Given the description of an element on the screen output the (x, y) to click on. 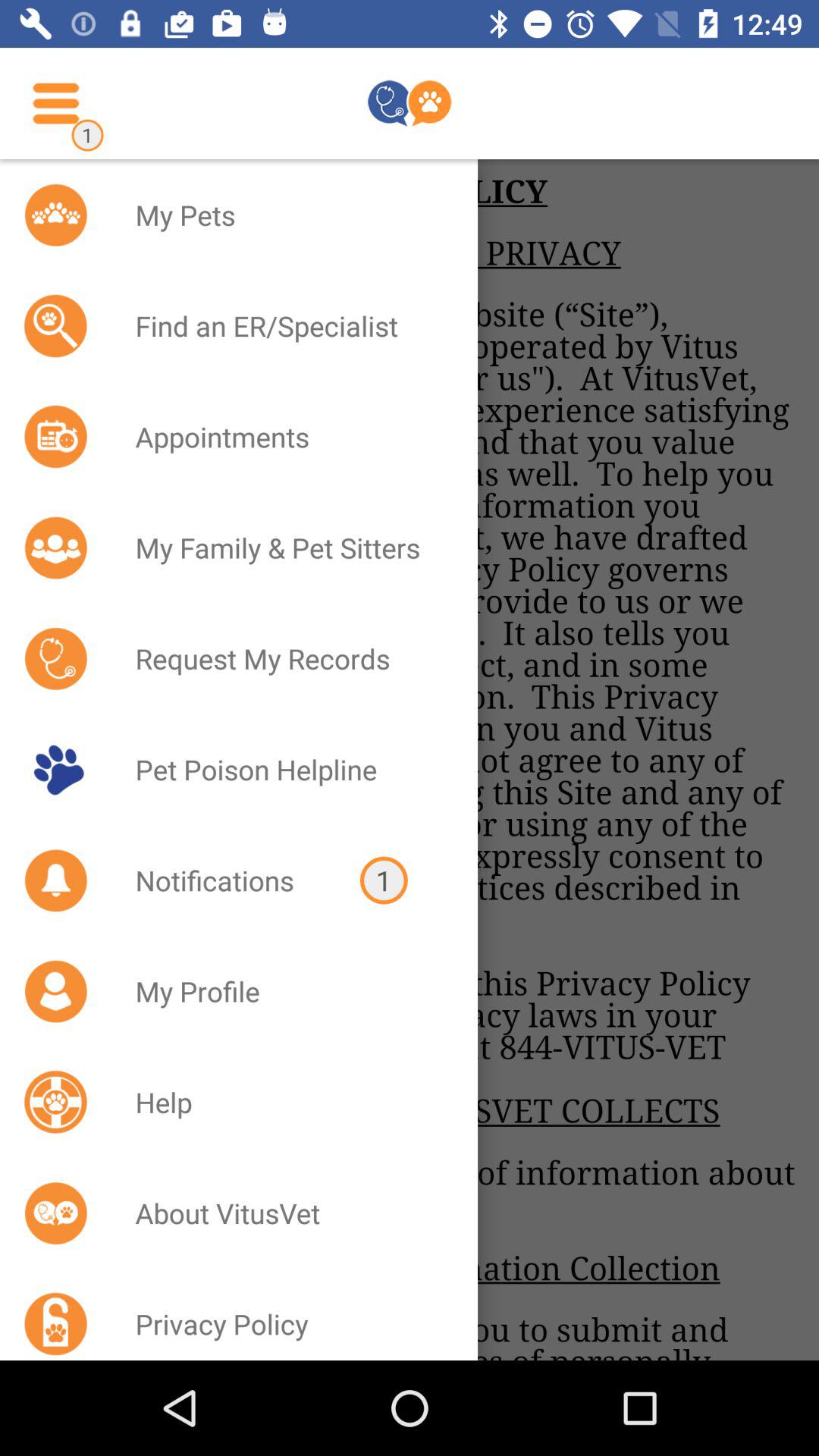
turn on the my profile icon (286, 991)
